Given the description of an element on the screen output the (x, y) to click on. 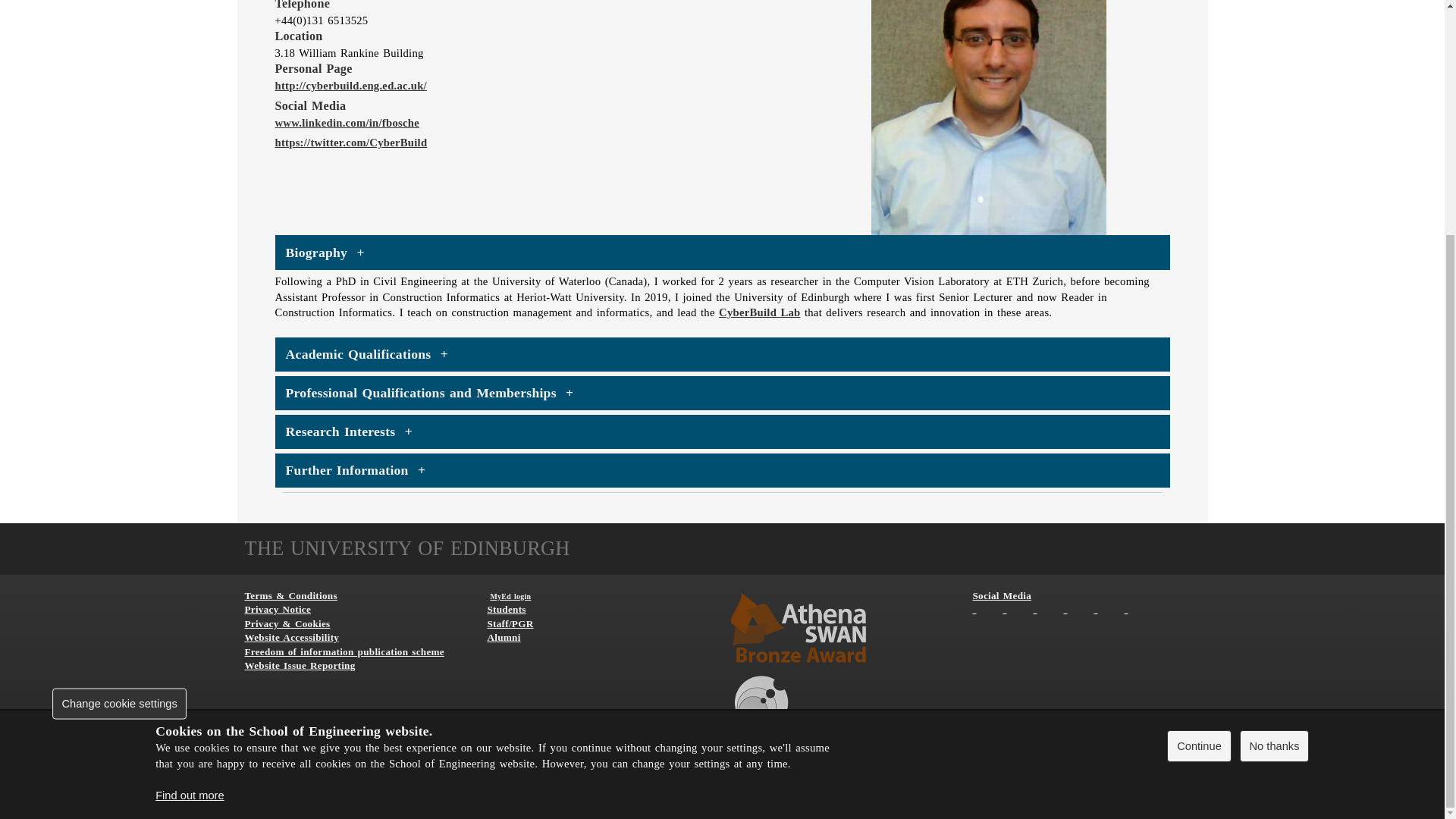
Change cookie settings (119, 382)
Find out more (189, 475)
Continue (1198, 425)
CyberBuild Lab (759, 312)
No thanks (1274, 425)
